Given the description of an element on the screen output the (x, y) to click on. 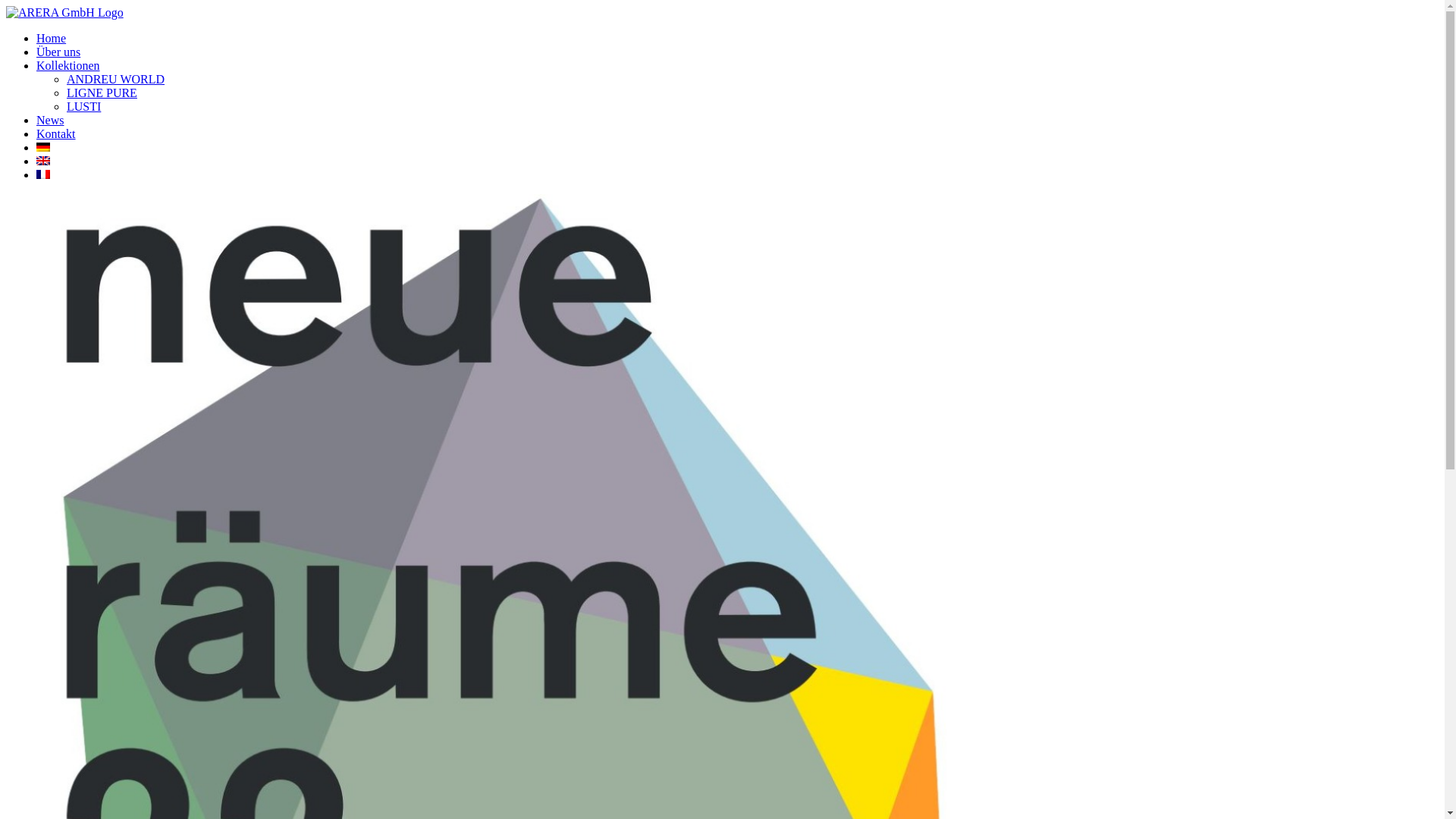
News Element type: text (49, 119)
Kollektionen Element type: text (68, 65)
Zum Inhalt springen Element type: text (5, 5)
LIGNE PURE Element type: text (101, 92)
ANDREU WORLD Element type: text (115, 78)
LUSTI Element type: text (83, 106)
Home Element type: text (50, 37)
Kontakt Element type: text (55, 133)
